Given the description of an element on the screen output the (x, y) to click on. 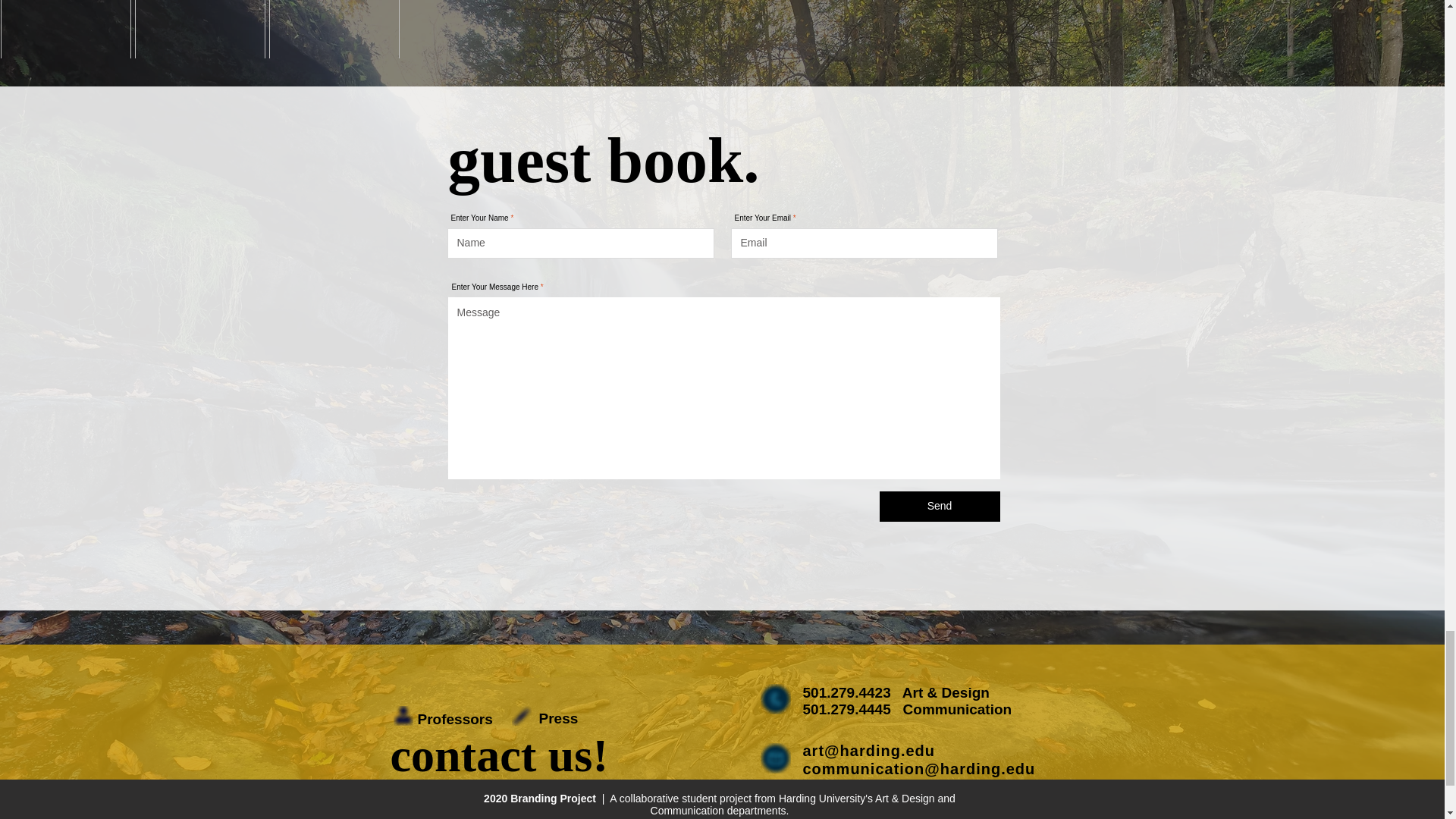
Press (558, 718)
Professors (455, 719)
Send (939, 506)
